Given the description of an element on the screen output the (x, y) to click on. 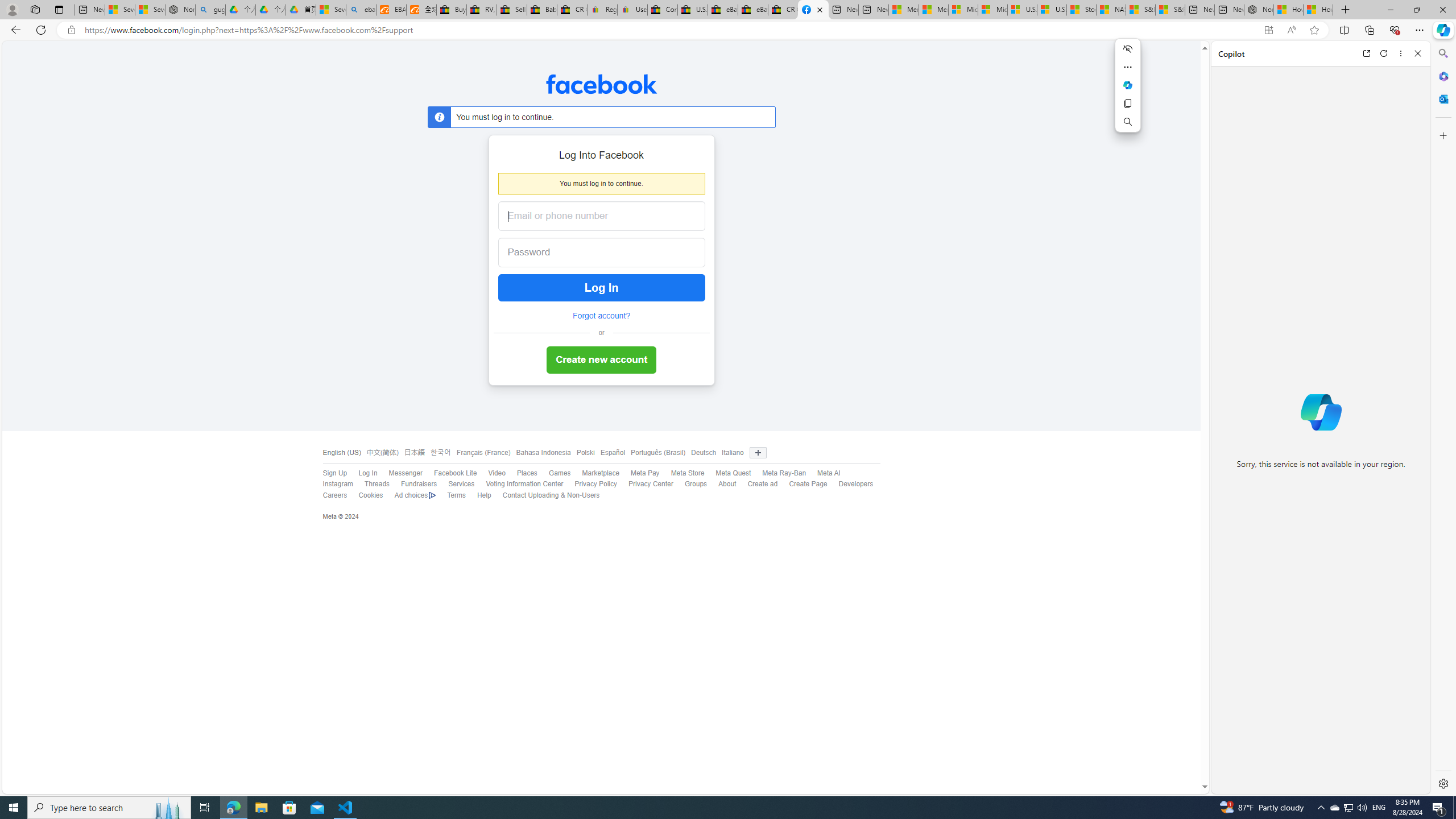
Marketplace (600, 473)
Meta Ray-Ban (783, 473)
Bahasa Indonesia (542, 452)
Polski (582, 452)
Meta Store (687, 473)
Privacy Policy (596, 483)
Developers (855, 483)
